Given the description of an element on the screen output the (x, y) to click on. 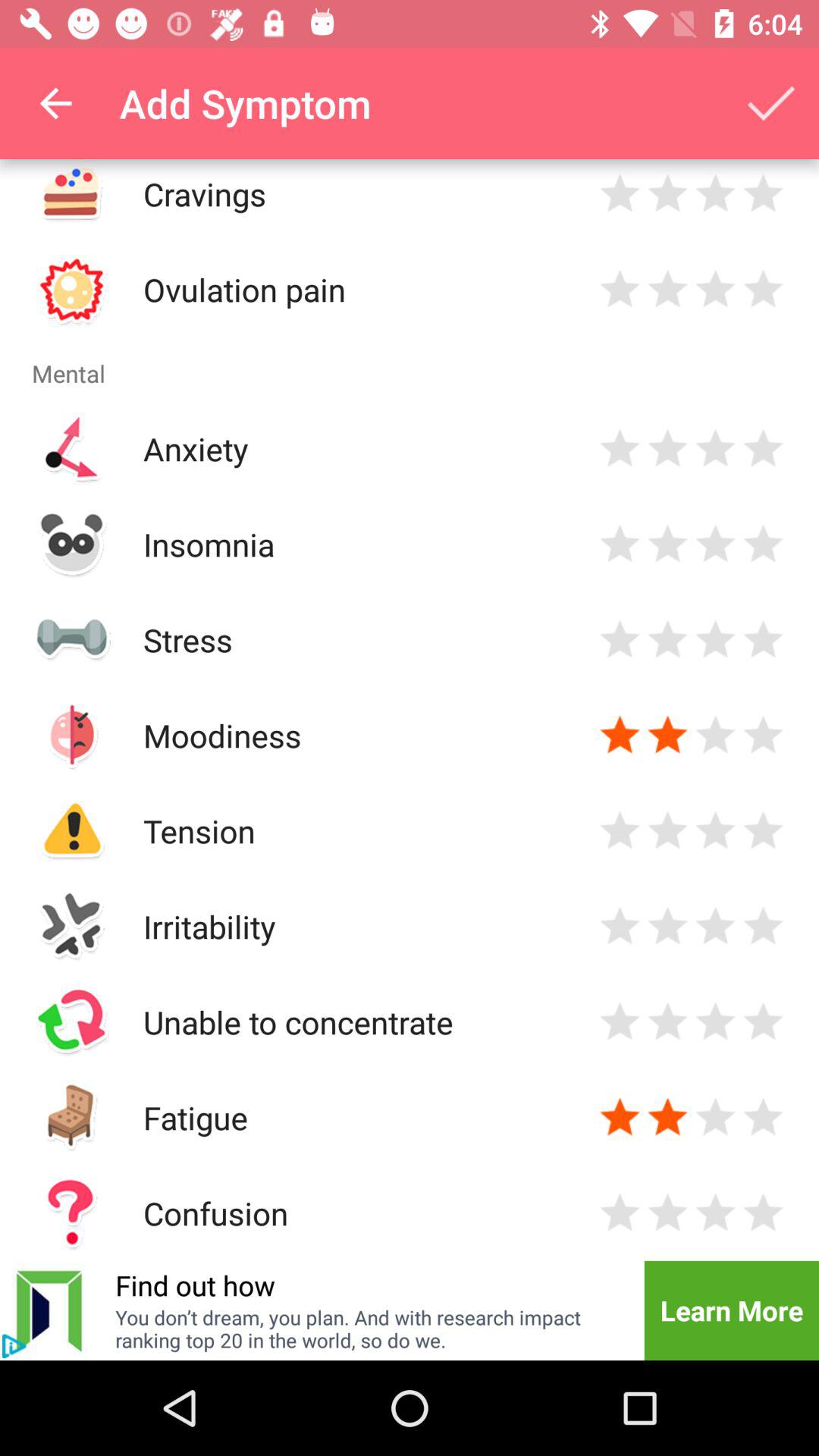
rate 2 stars (667, 1021)
